Given the description of an element on the screen output the (x, y) to click on. 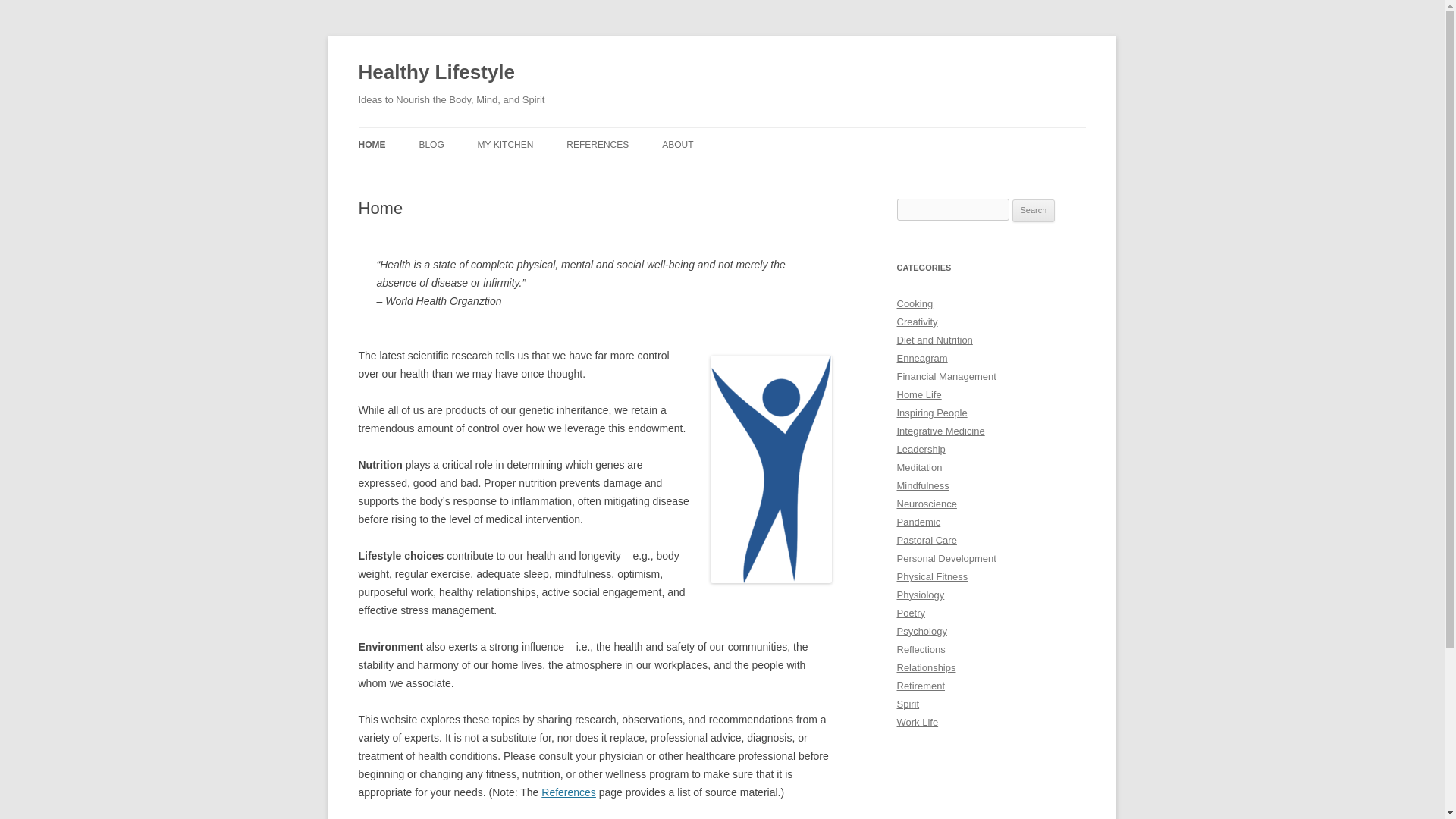
Work Life (916, 722)
REFERENCES (597, 144)
Poetry (910, 613)
Search (1033, 210)
Search (1033, 210)
Pandemic (918, 521)
Healthy Lifestyle (436, 72)
ABOUT (677, 144)
MY KITCHEN (505, 144)
